Given the description of an element on the screen output the (x, y) to click on. 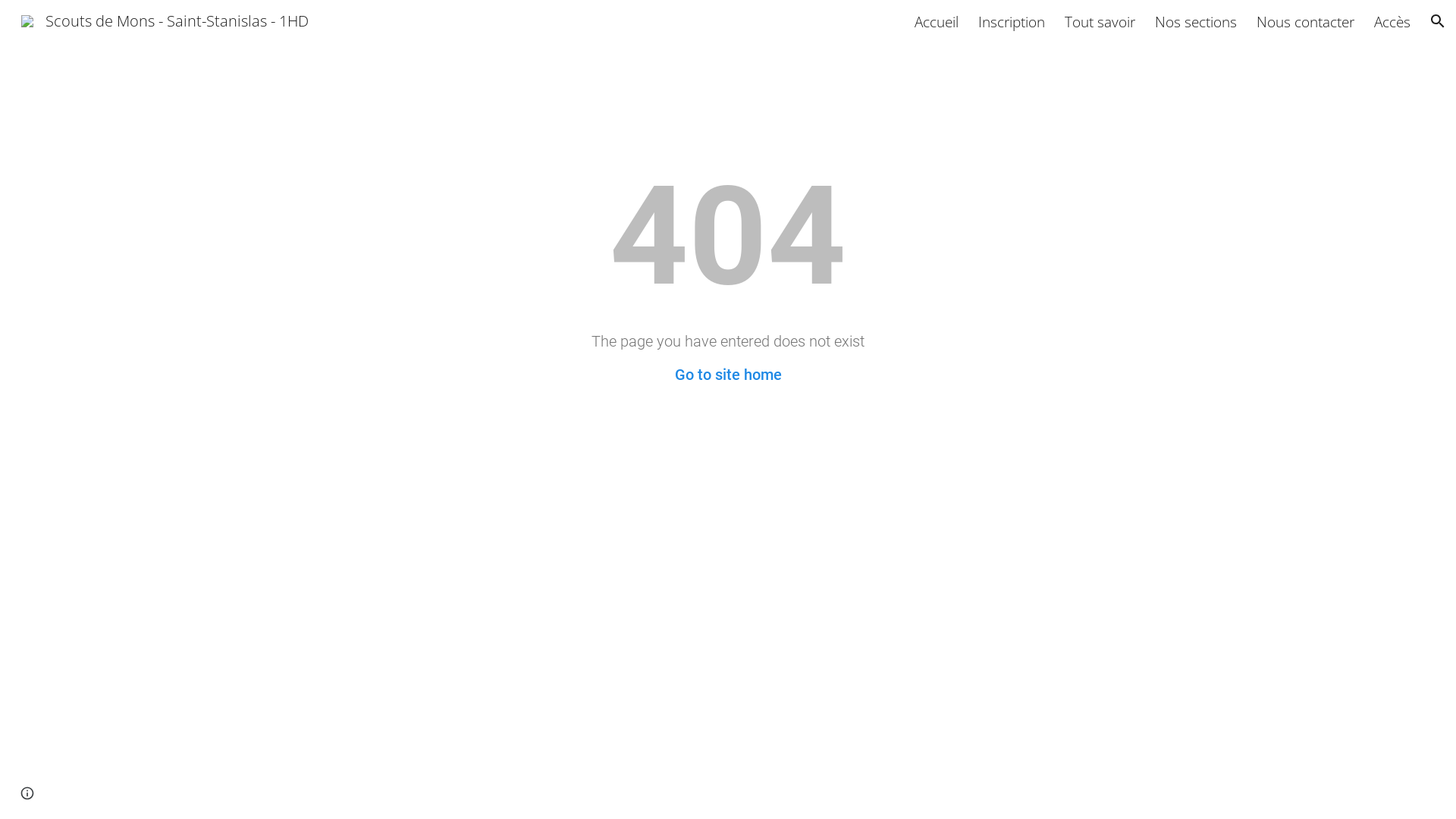
Nos sections Element type: text (1195, 21)
Accueil Element type: text (936, 21)
Inscription Element type: text (1011, 21)
Nous contacter Element type: text (1305, 21)
Tout savoir Element type: text (1099, 21)
Go to site home Element type: text (727, 374)
Scouts de Mons - Saint-Stanislas - 1HD Element type: text (164, 19)
